Given the description of an element on the screen output the (x, y) to click on. 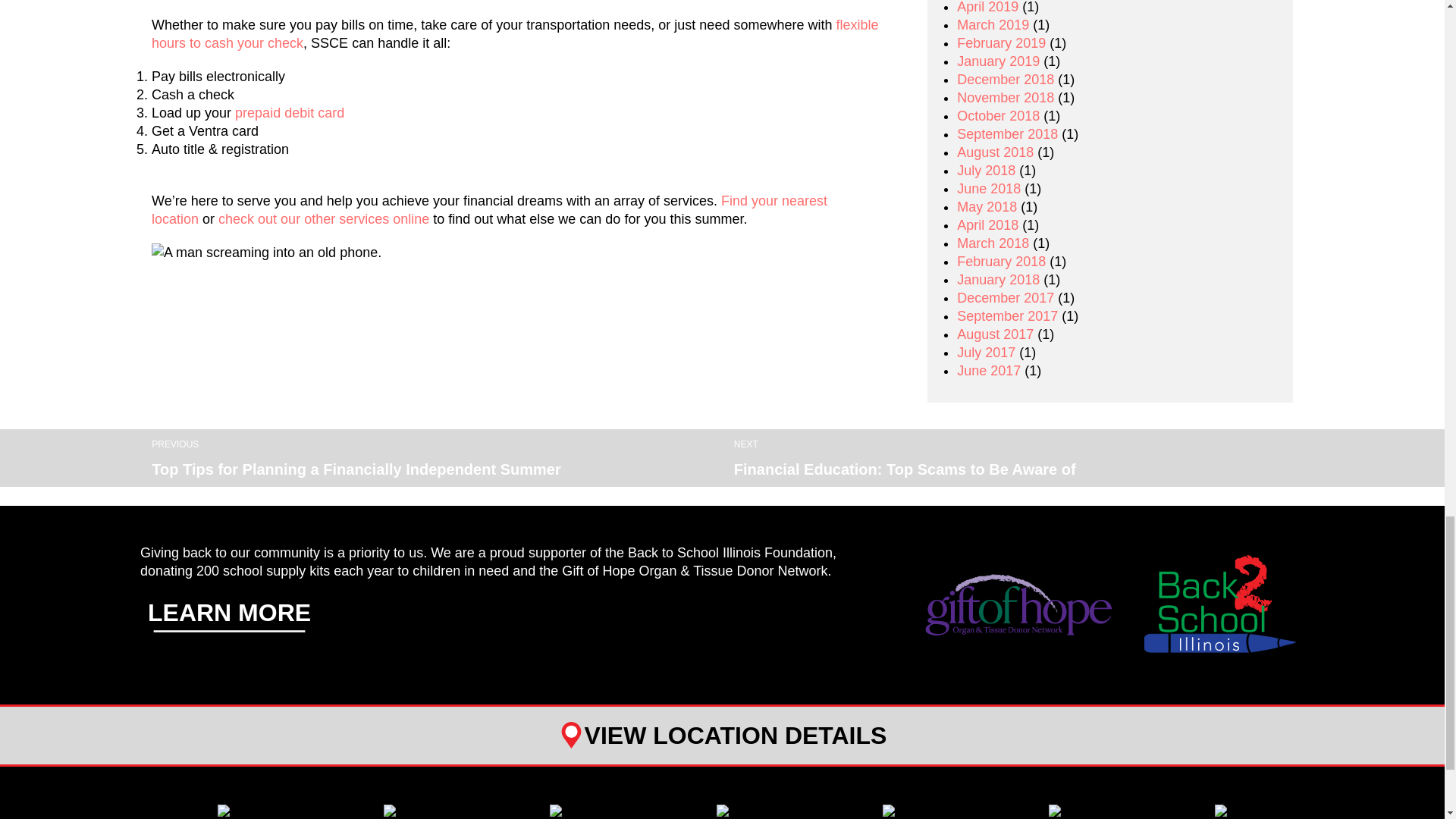
Find your nearest location (489, 209)
check out our other services online (323, 218)
prepaid debit card (288, 112)
flexible hours to cash your check (514, 33)
